Given the description of an element on the screen output the (x, y) to click on. 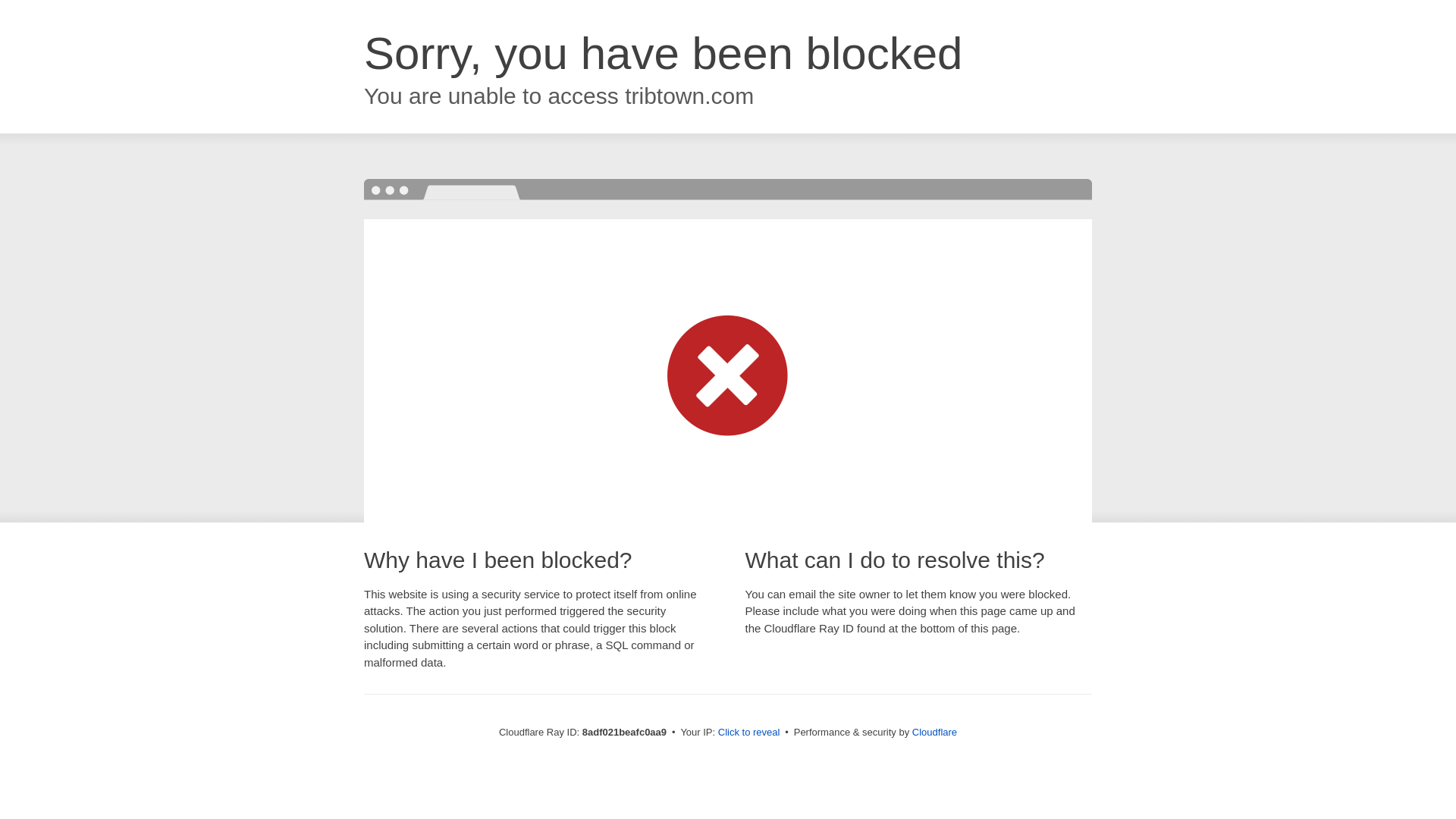
Cloudflare (934, 731)
Click to reveal (748, 732)
